Given the description of an element on the screen output the (x, y) to click on. 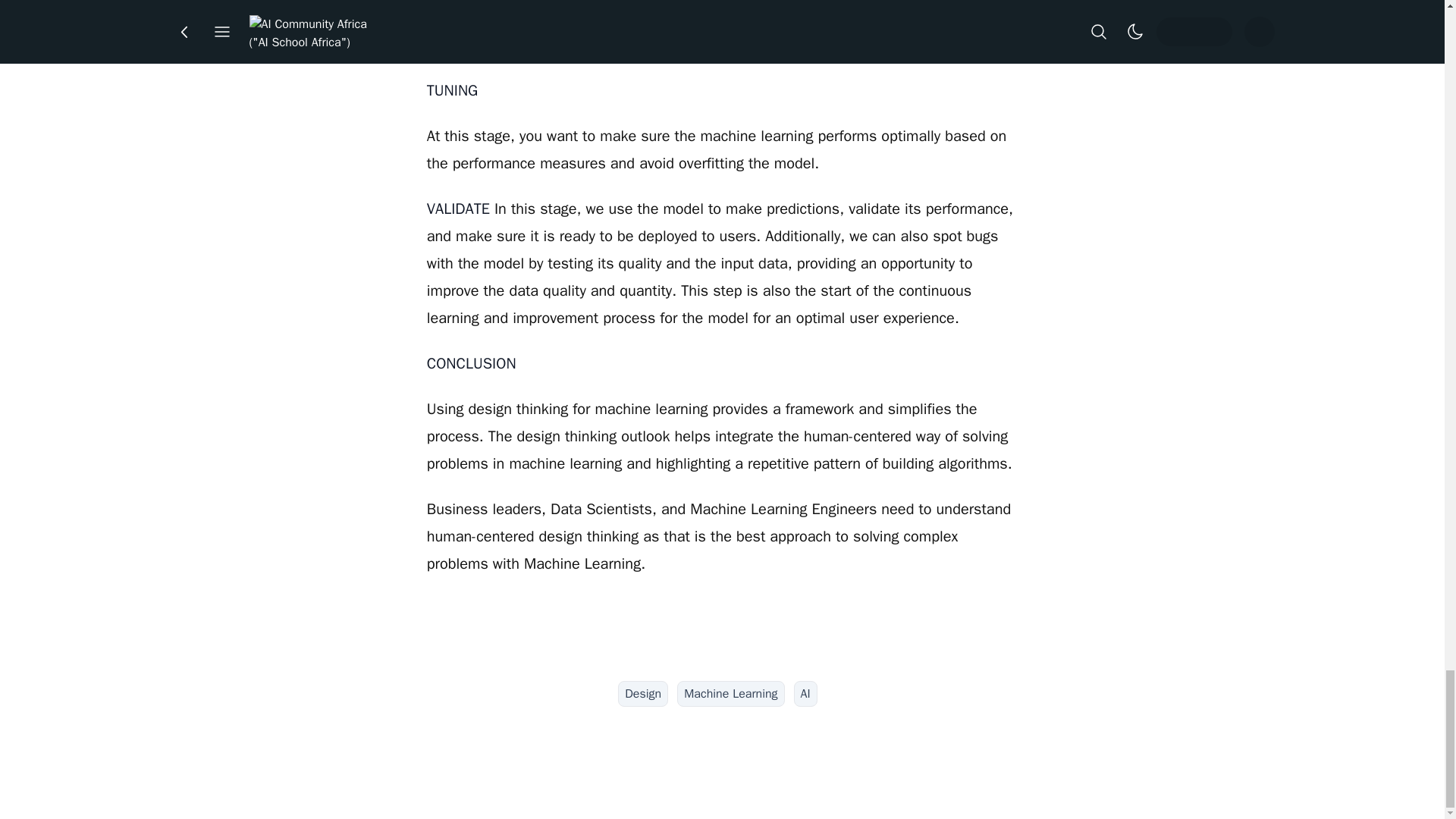
Design (642, 693)
Machine Learning (730, 693)
AI (804, 693)
